Given the description of an element on the screen output the (x, y) to click on. 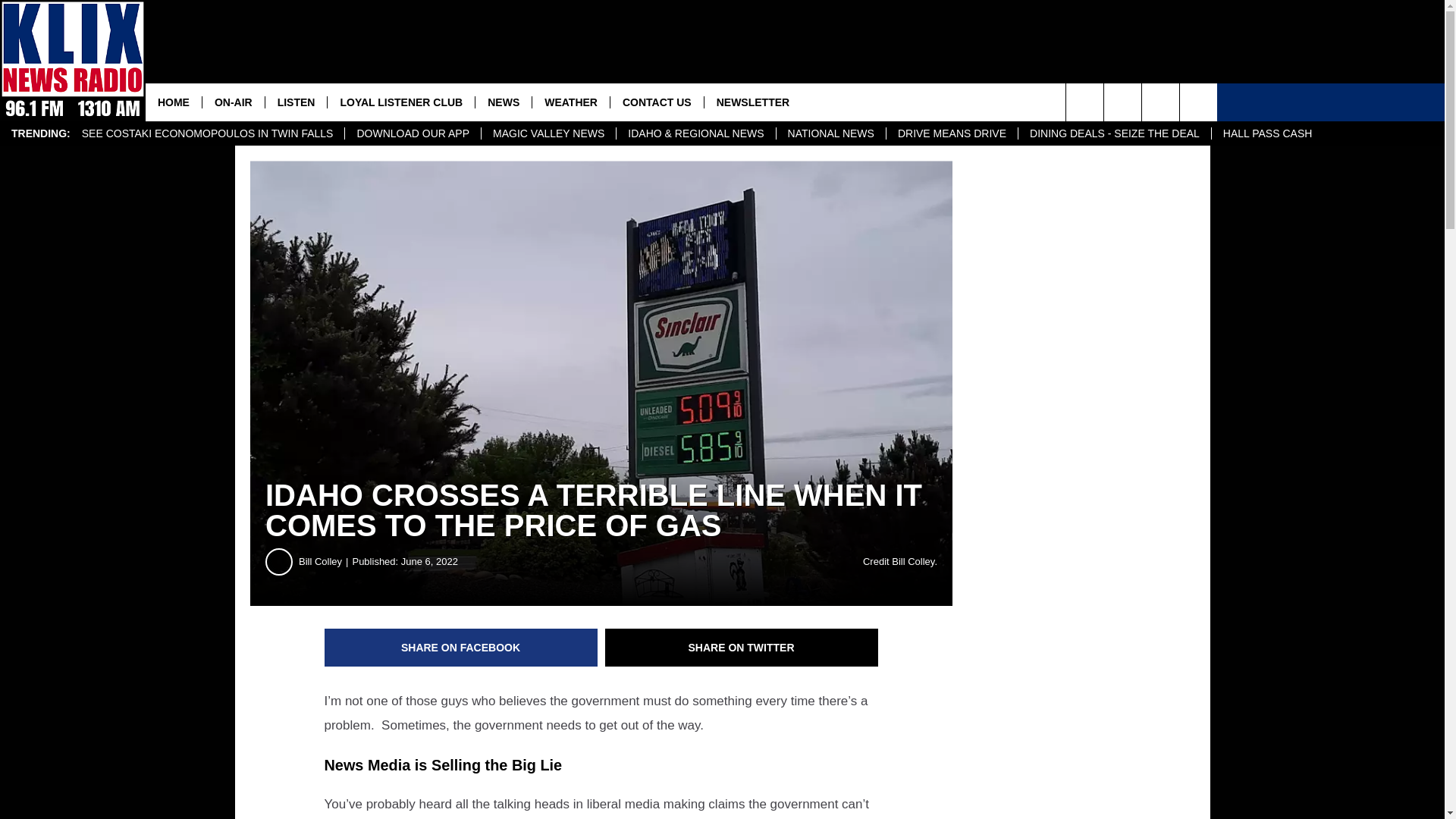
ON-AIR (233, 102)
LOYAL LISTENER CLUB (400, 102)
NEWS (502, 102)
DOWNLOAD OUR APP (411, 133)
DINING DEALS - SEIZE THE DEAL (1114, 133)
DRIVE MEANS DRIVE (951, 133)
LISTEN (295, 102)
HOME (173, 102)
Share on Facebook (460, 647)
MAGIC VALLEY NEWS (547, 133)
